Given the description of an element on the screen output the (x, y) to click on. 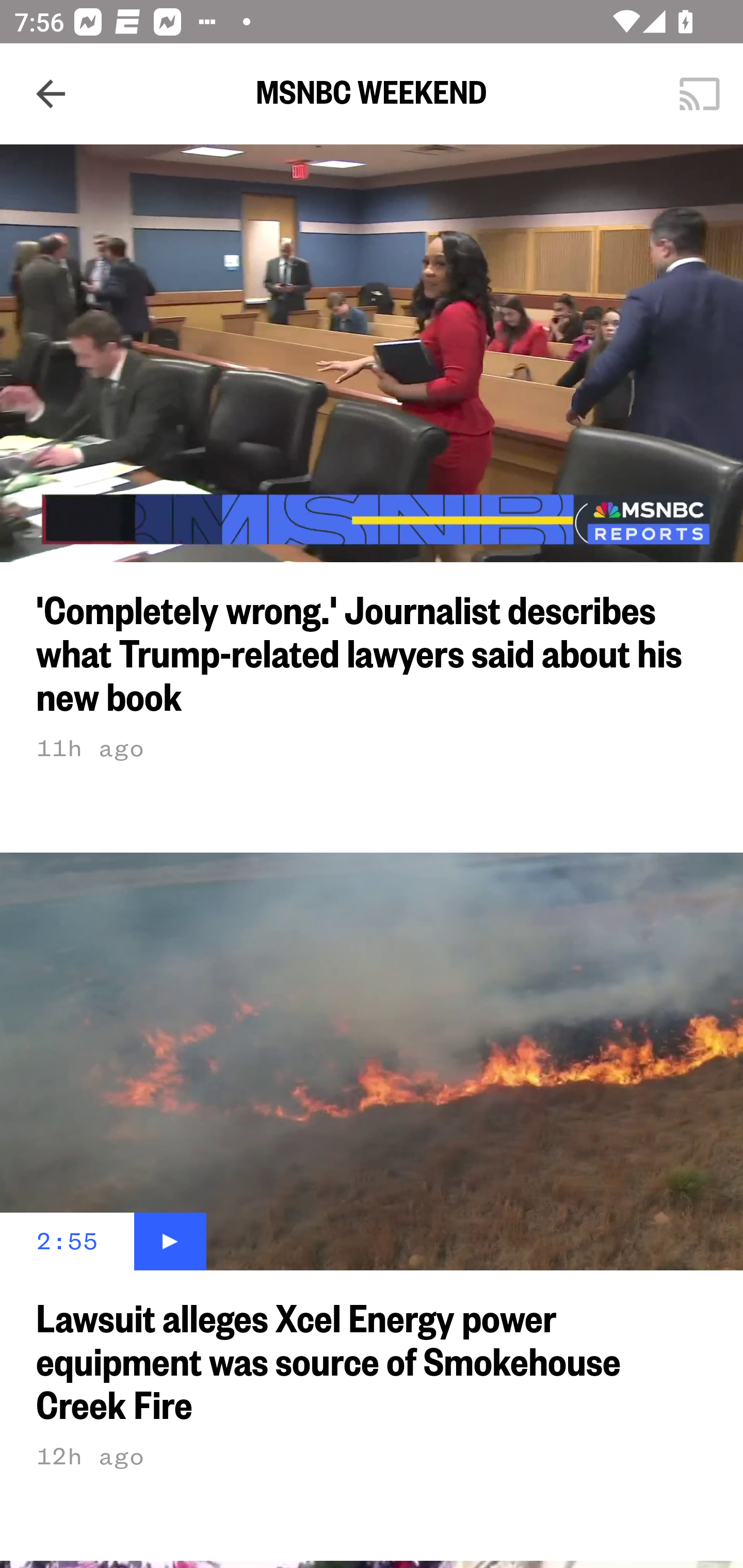
Navigate up (50, 93)
Cast. Disconnected (699, 93)
